Given the description of an element on the screen output the (x, y) to click on. 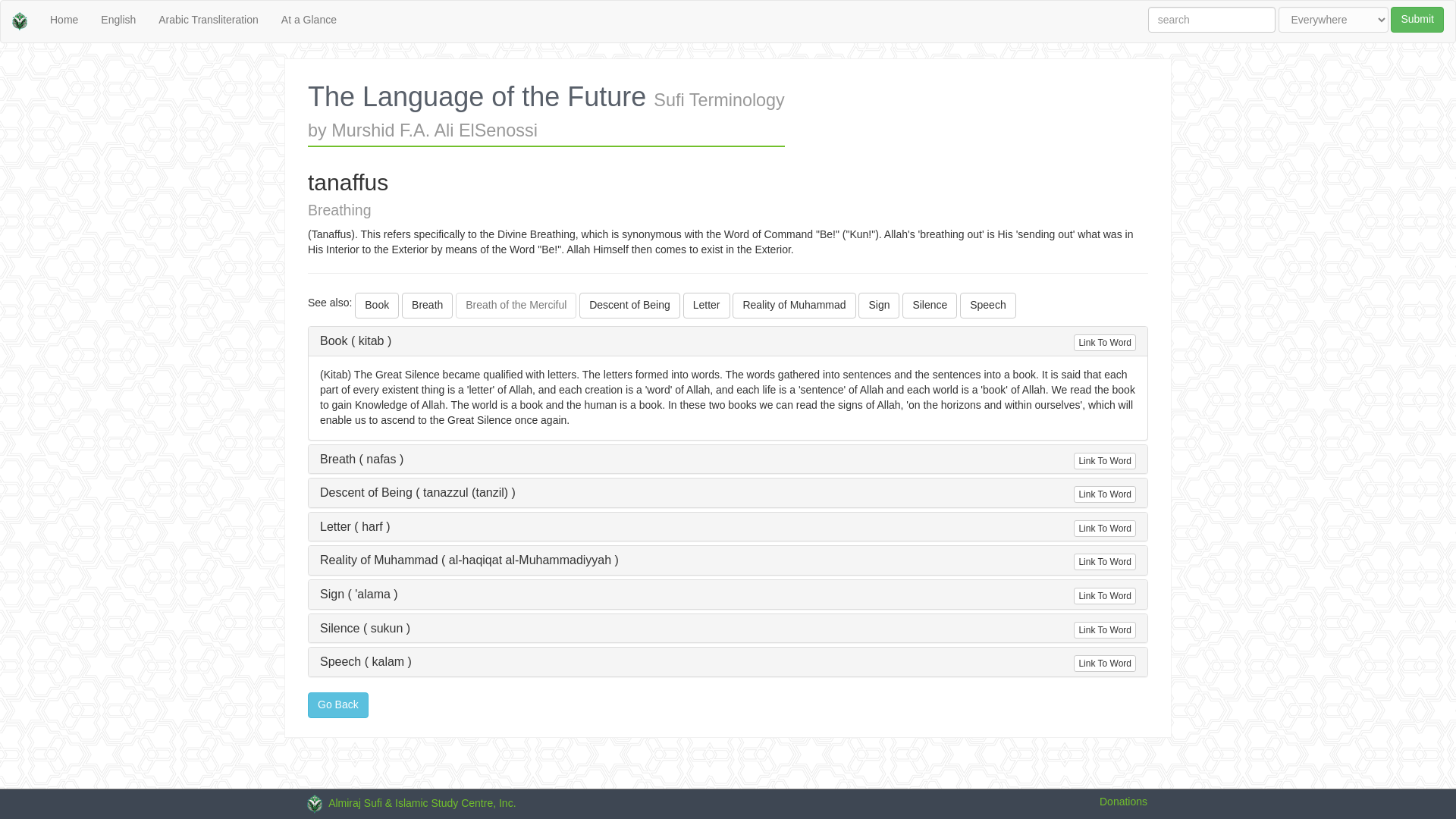
Reality of Muhammad (794, 305)
Sign (879, 305)
Go Back (337, 705)
At a Glance (308, 19)
Link To Word (1104, 663)
Book (376, 305)
Link To Word (1104, 561)
Speech (986, 305)
Link To Word (1104, 460)
Letter (706, 305)
Link To Word (1104, 629)
English (117, 19)
Link To Word (1104, 596)
Submit (1417, 19)
Link To Word (1104, 342)
